Given the description of an element on the screen output the (x, y) to click on. 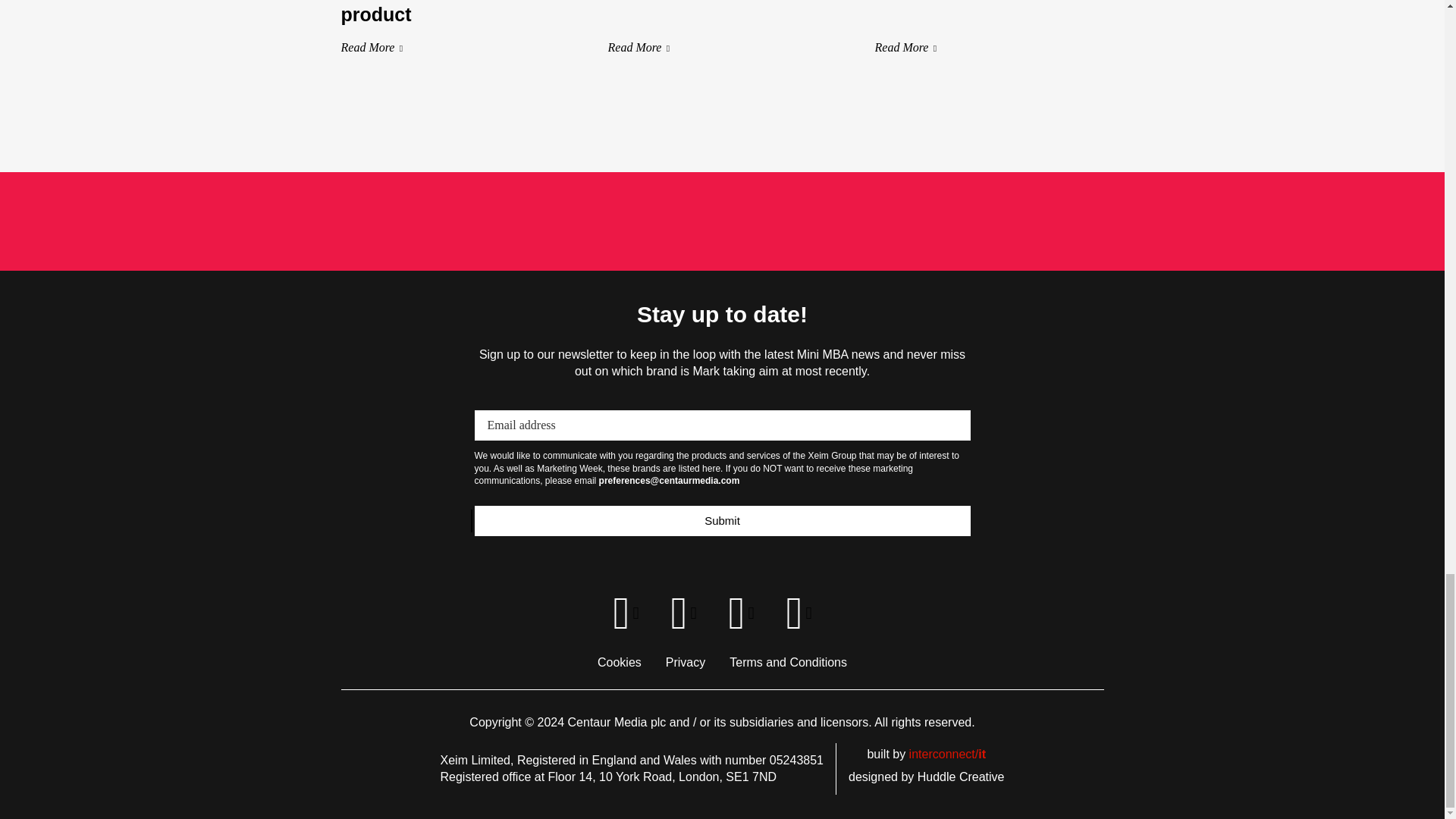
Submit (722, 521)
